Given the description of an element on the screen output the (x, y) to click on. 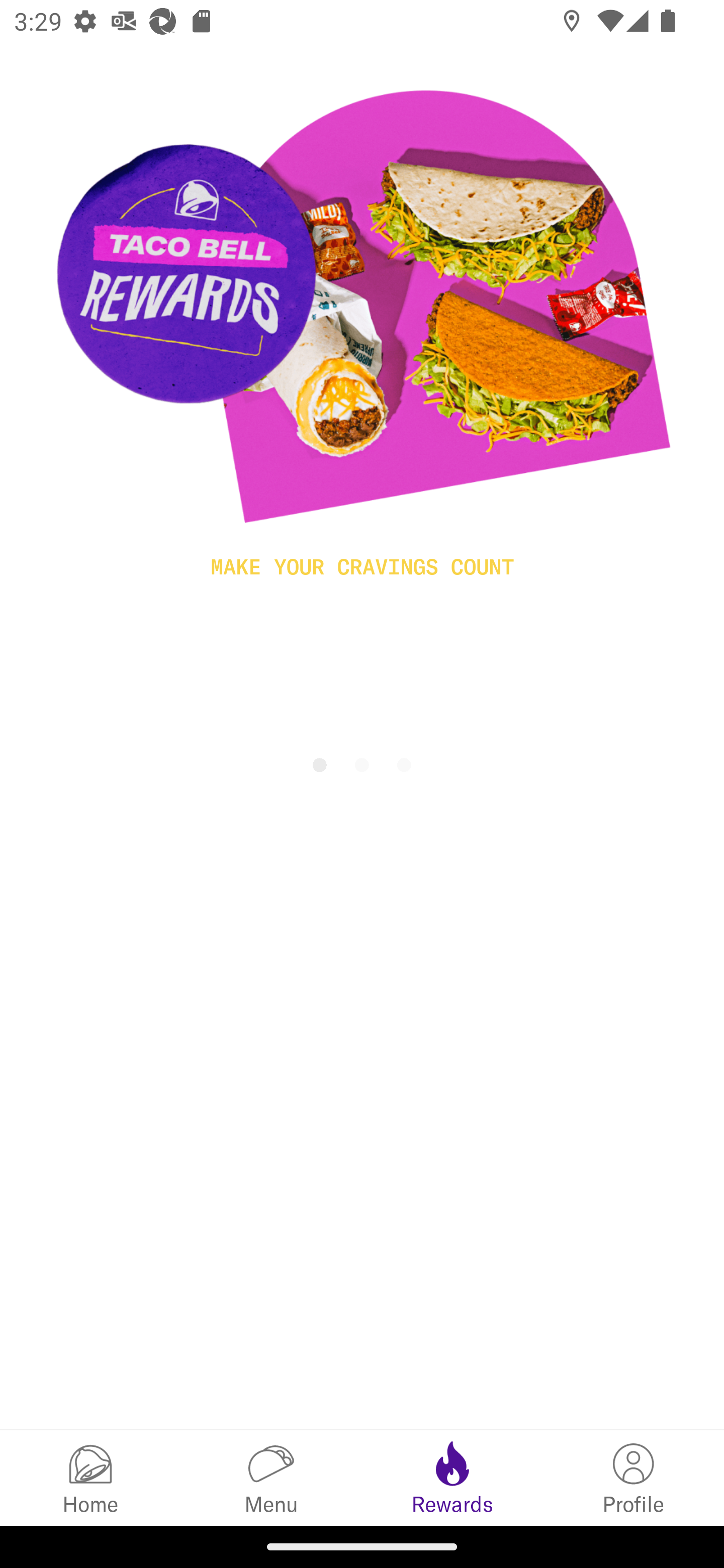
Home (90, 1476)
Menu (271, 1476)
Rewards (452, 1476)
My Info Profile (633, 1476)
